Given the description of an element on the screen output the (x, y) to click on. 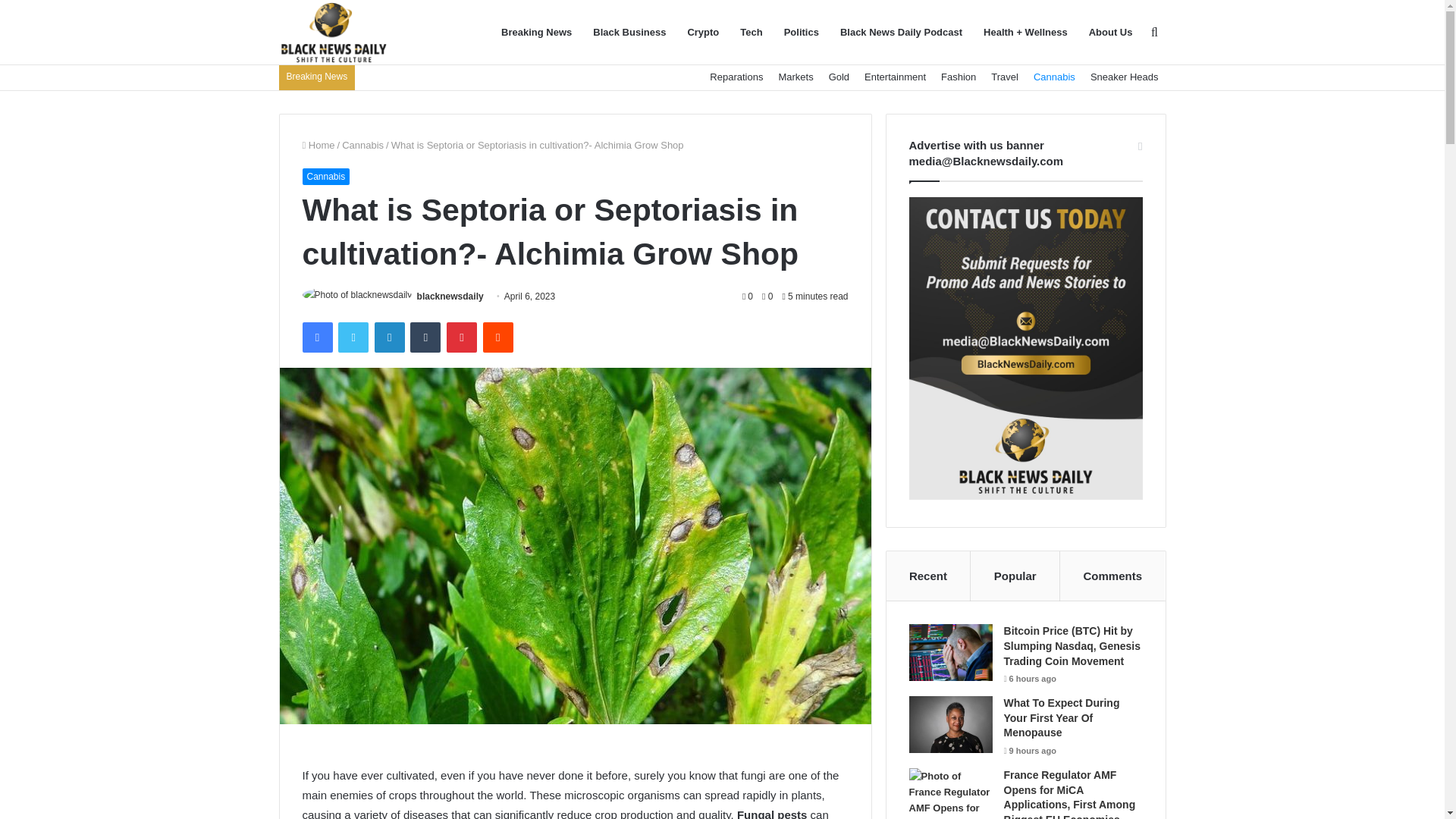
Tumblr (425, 337)
Fashion (958, 76)
Reparations (735, 76)
Facebook (316, 337)
AWordPressSite (333, 32)
Tumblr (425, 337)
Markets (795, 76)
LinkedIn (389, 337)
blacknewsdaily (449, 296)
Sneaker Heads (1124, 76)
